Given the description of an element on the screen output the (x, y) to click on. 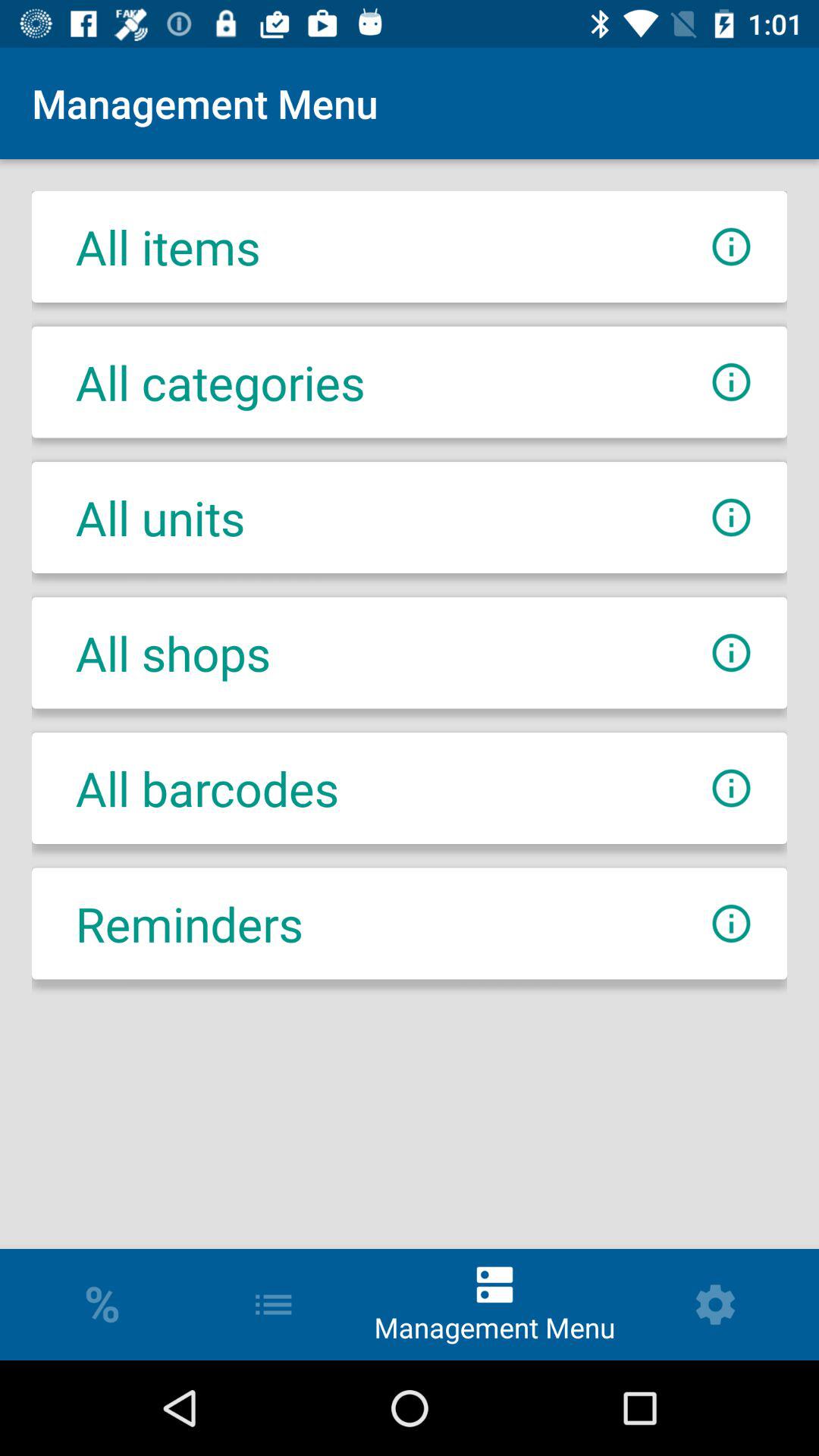
view more info about category (731, 381)
